Given the description of an element on the screen output the (x, y) to click on. 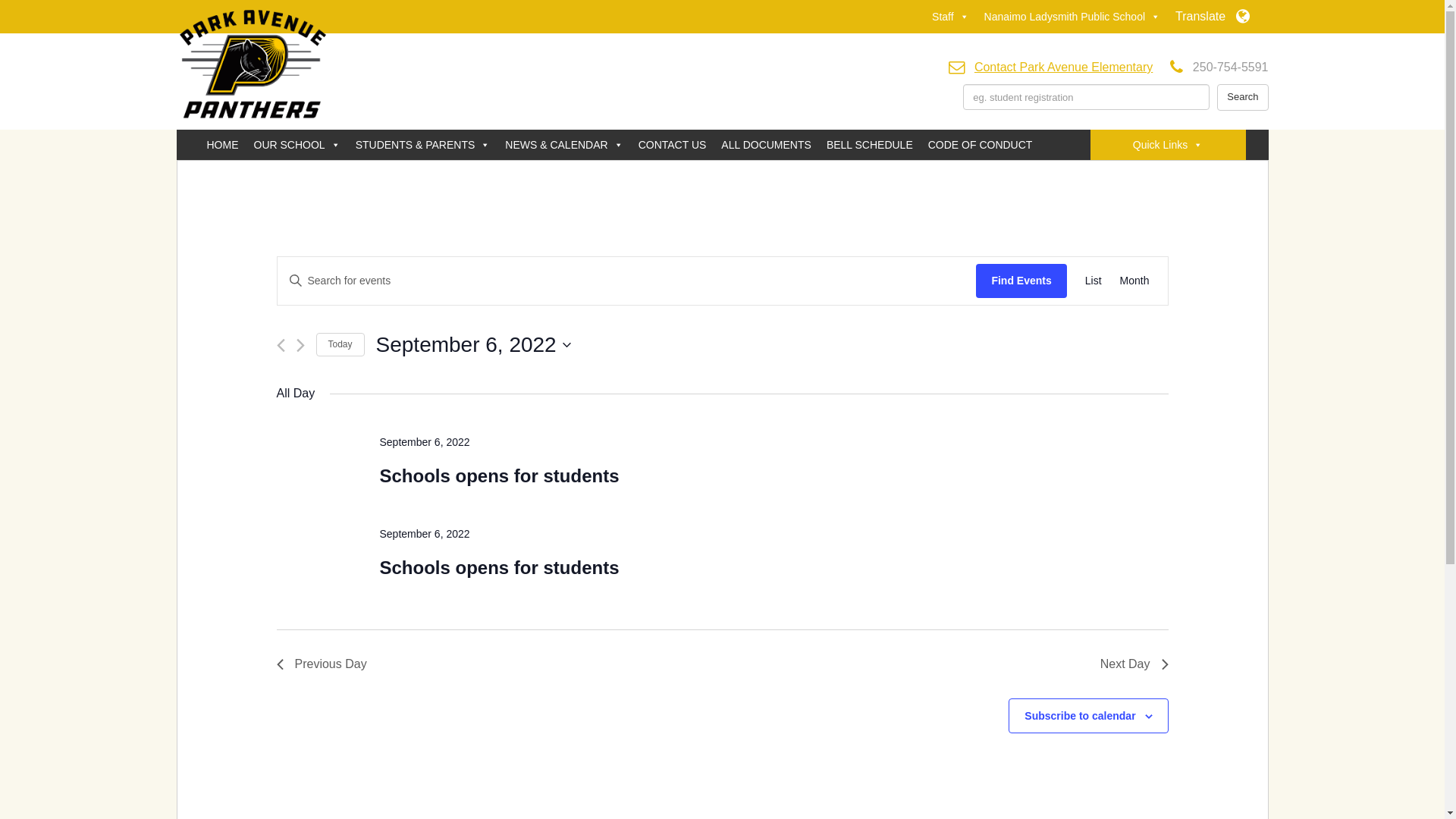
Next Day Element type: text (1134, 664)
Next day Element type: hover (299, 345)
Quick Links Element type: text (1167, 144)
NEWS & CALENDAR Element type: text (563, 144)
Today Element type: text (339, 344)
STUDENTS & PARENTS Element type: text (423, 144)
Schools opens for students Element type: text (498, 475)
HOME Element type: text (221, 144)
CODE OF CONDUCT Element type: text (980, 144)
Translate   Element type: text (1211, 16)
Contact Park Avenue Elementary Element type: text (1063, 66)
CONTACT US Element type: text (672, 144)
Previous day Element type: hover (280, 345)
Subscribe to calendar Element type: text (1079, 715)
Month Element type: text (1134, 280)
Find Events Element type: text (1020, 280)
Nanaimo Ladysmith Public School Element type: text (1071, 16)
Staff Element type: text (950, 16)
Previous Day Element type: text (321, 664)
BELL SCHEDULE Element type: text (869, 144)
Search Element type: text (1242, 97)
September 6, 2022 Element type: text (473, 344)
List Element type: text (1093, 280)
ALL DOCUMENTS Element type: text (766, 144)
OUR SCHOOL Element type: text (296, 144)
Schools opens for students Element type: text (498, 567)
